Given the description of an element on the screen output the (x, y) to click on. 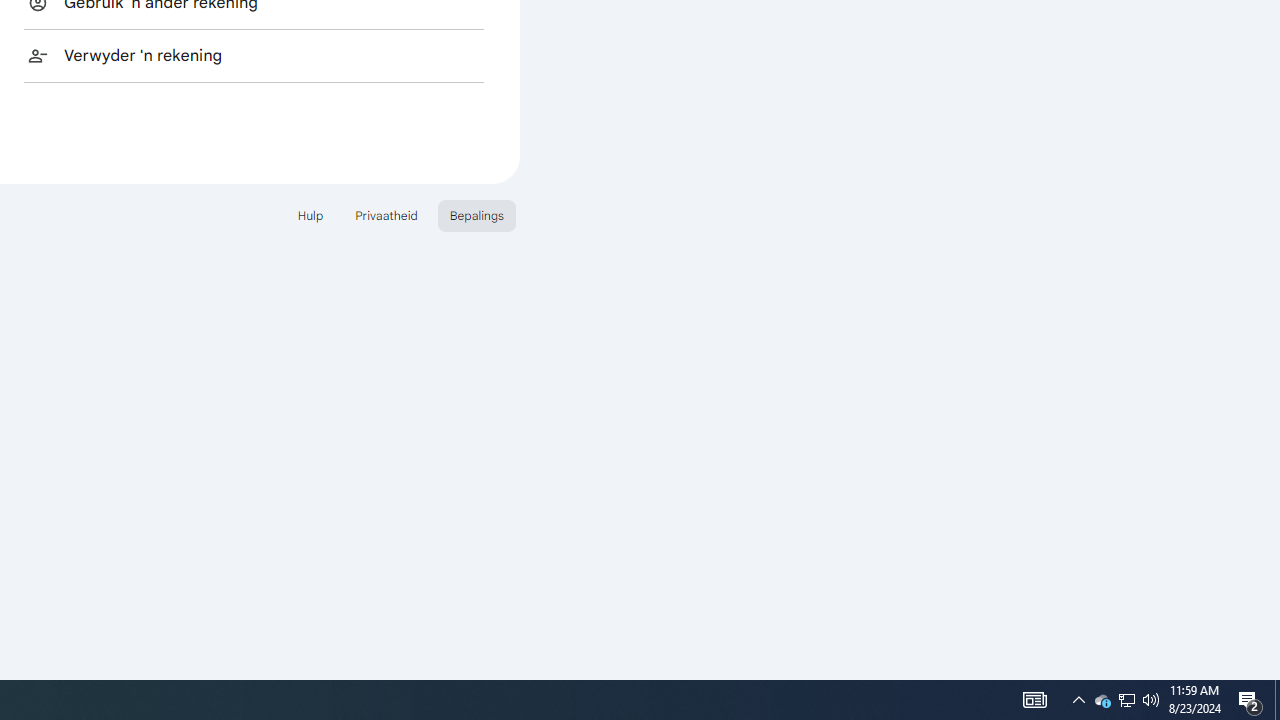
Bepalings (475, 214)
Hulp (310, 214)
Privaatheid (386, 214)
Verwyder 'n rekening (253, 55)
